Given the description of an element on the screen output the (x, y) to click on. 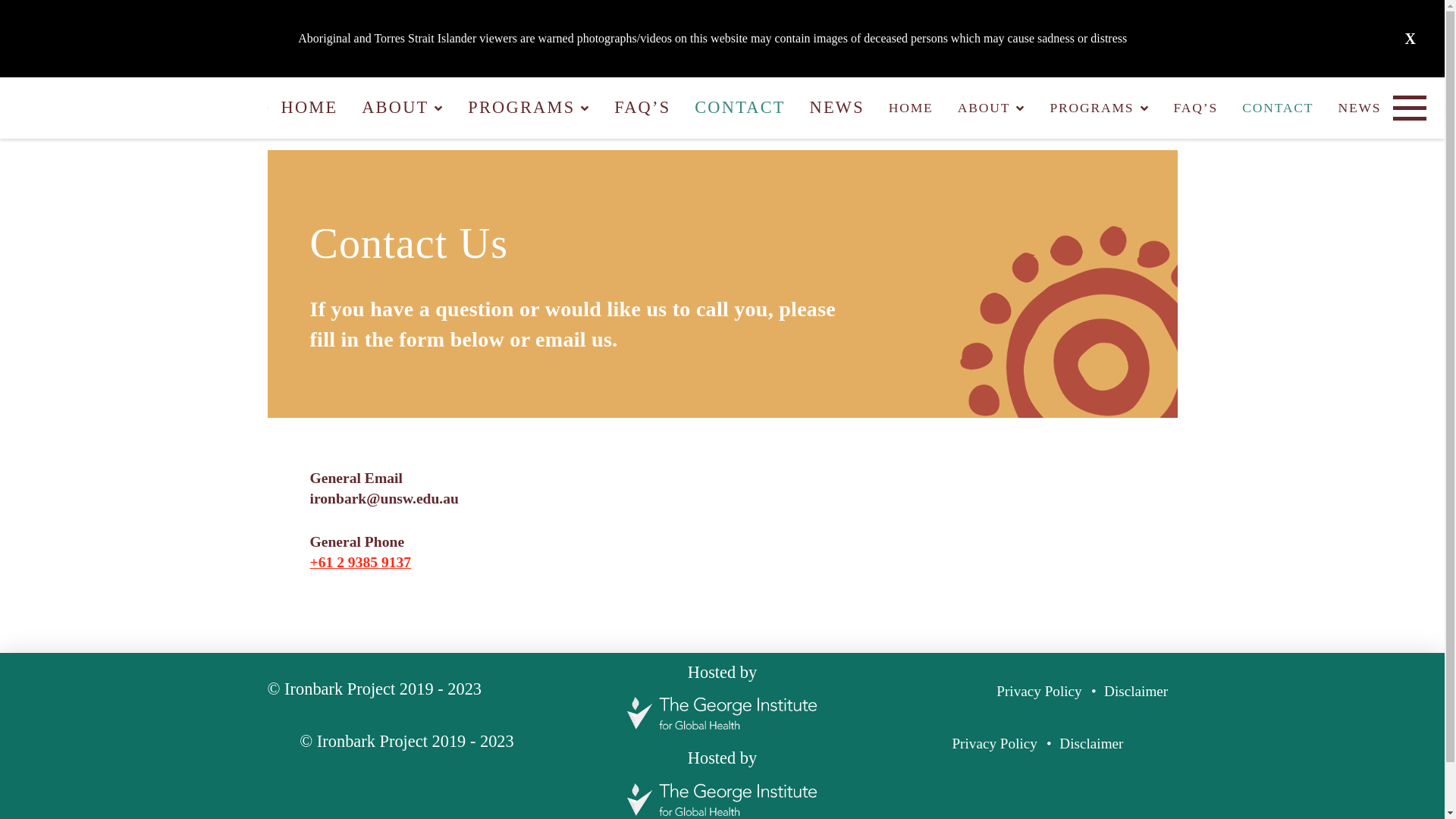
Privacy Policy Element type: text (1039, 691)
NEWS Element type: text (836, 107)
Disclaimer Element type: text (1136, 691)
ABOUT Element type: text (401, 107)
PROGRAMS Element type: text (1098, 107)
+61 2 9385 9137 Element type: text (360, 562)
X Element type: text (1410, 38)
NEWS Element type: text (1358, 107)
CONTACT Element type: text (1276, 107)
HOME Element type: text (308, 107)
ABOUT Element type: text (990, 107)
Disclaimer Element type: text (1091, 743)
PROGRAMS Element type: text (528, 107)
Privacy Policy Element type: text (994, 743)
CONTACT Element type: text (738, 107)
HOME Element type: text (909, 107)
